Given the description of an element on the screen output the (x, y) to click on. 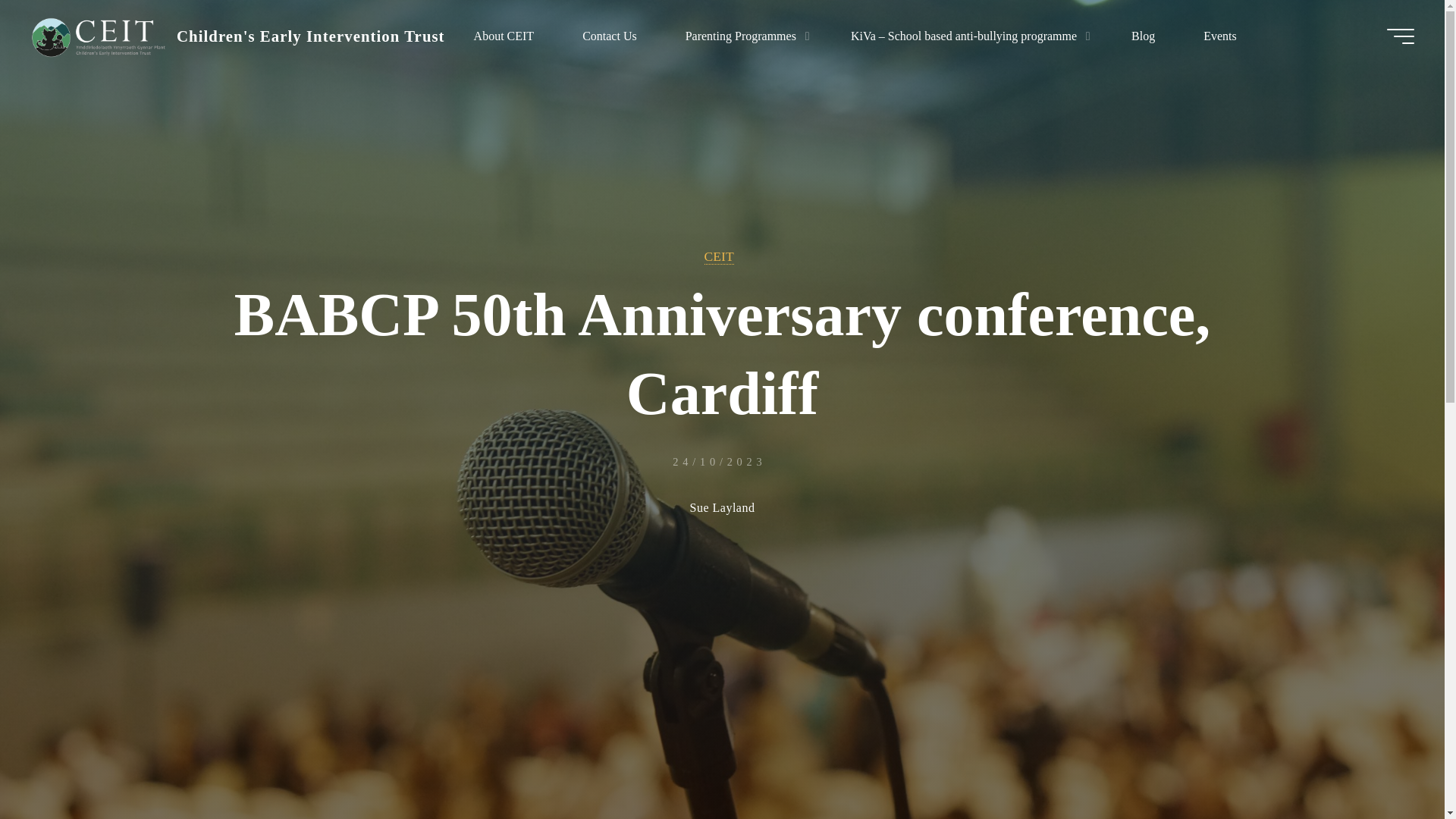
View all posts by Sue Layland (722, 509)
Events (1219, 35)
Contact Us (609, 35)
Parenting Programmes (744, 35)
Children's Early Intervention Trust (310, 36)
Children's Early Intervention Trust (97, 35)
Sue Layland (722, 509)
About CEIT (504, 35)
CEIT (718, 256)
Read more (721, 724)
Blog (1142, 35)
